Given the description of an element on the screen output the (x, y) to click on. 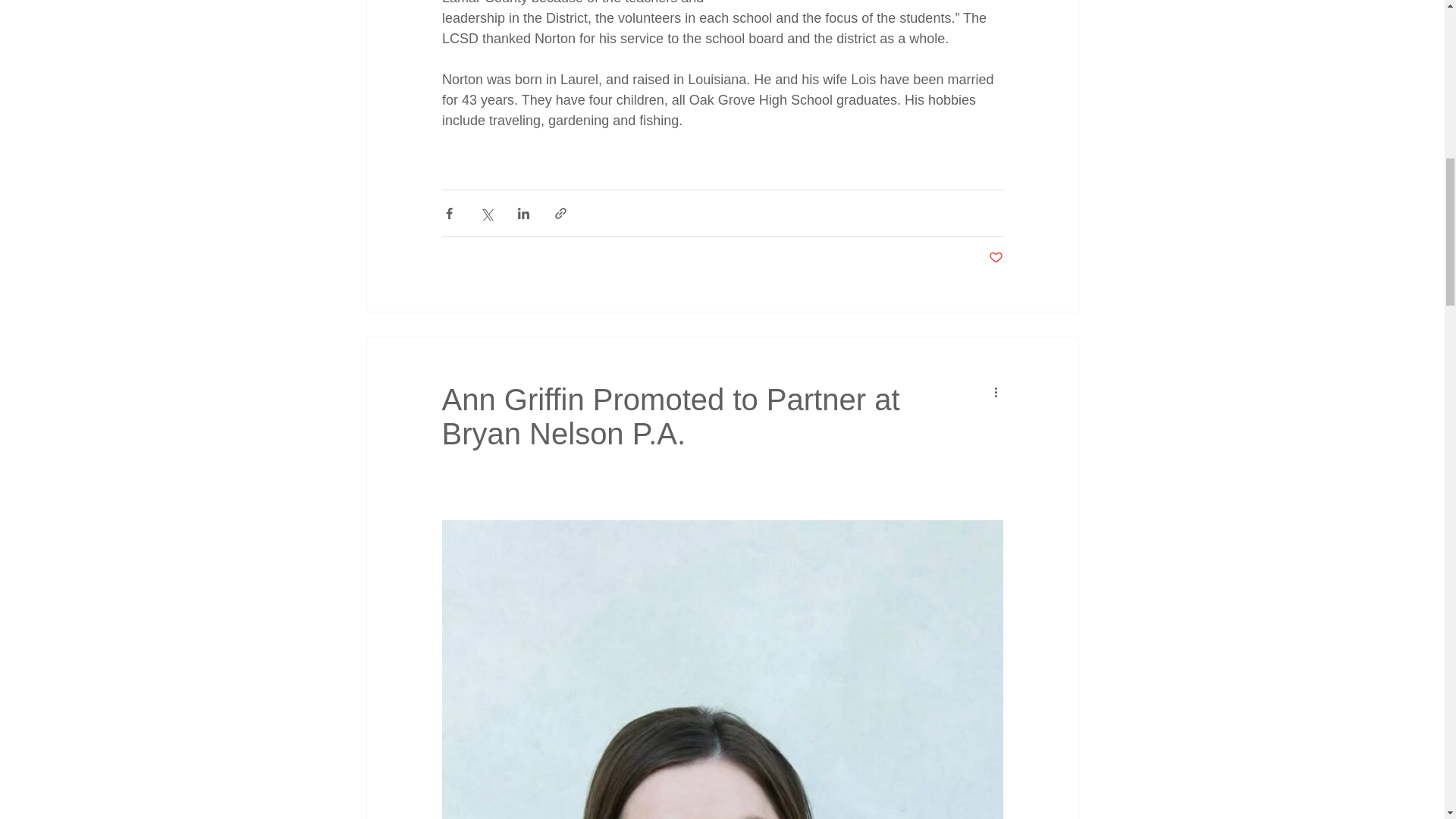
Post not marked as liked (995, 258)
Ann Griffin Promoted to Partner at Bryan Nelson P.A. (670, 416)
